Given the description of an element on the screen output the (x, y) to click on. 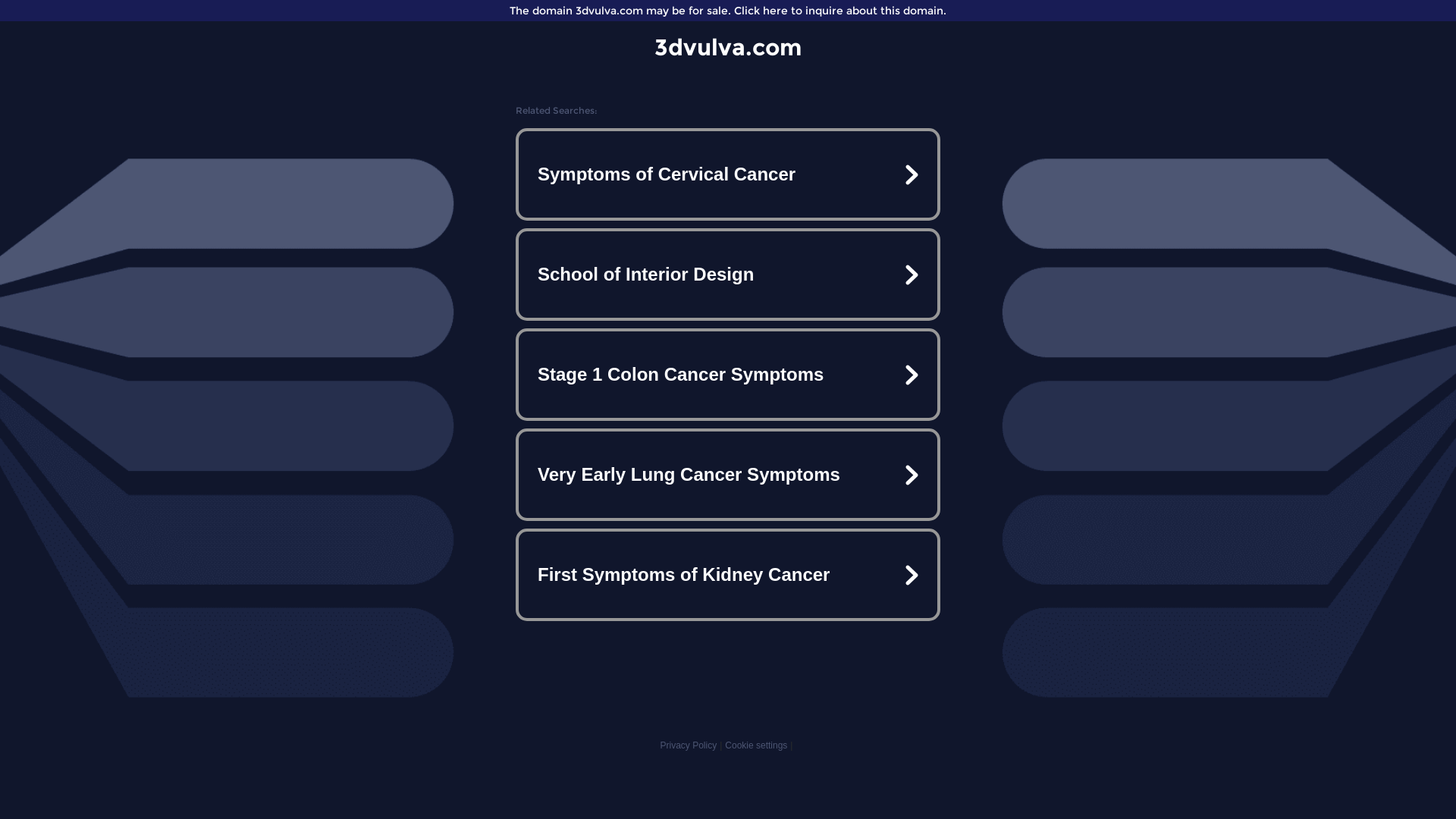
3dvulva.com Element type: text (727, 47)
Symptoms of Cervical Cancer Element type: text (727, 174)
School of Interior Design Element type: text (727, 274)
Privacy Policy Element type: text (687, 745)
Stage 1 Colon Cancer Symptoms Element type: text (727, 374)
Cookie settings Element type: text (755, 745)
First Symptoms of Kidney Cancer Element type: text (727, 574)
Very Early Lung Cancer Symptoms Element type: text (727, 474)
